Given the description of an element on the screen output the (x, y) to click on. 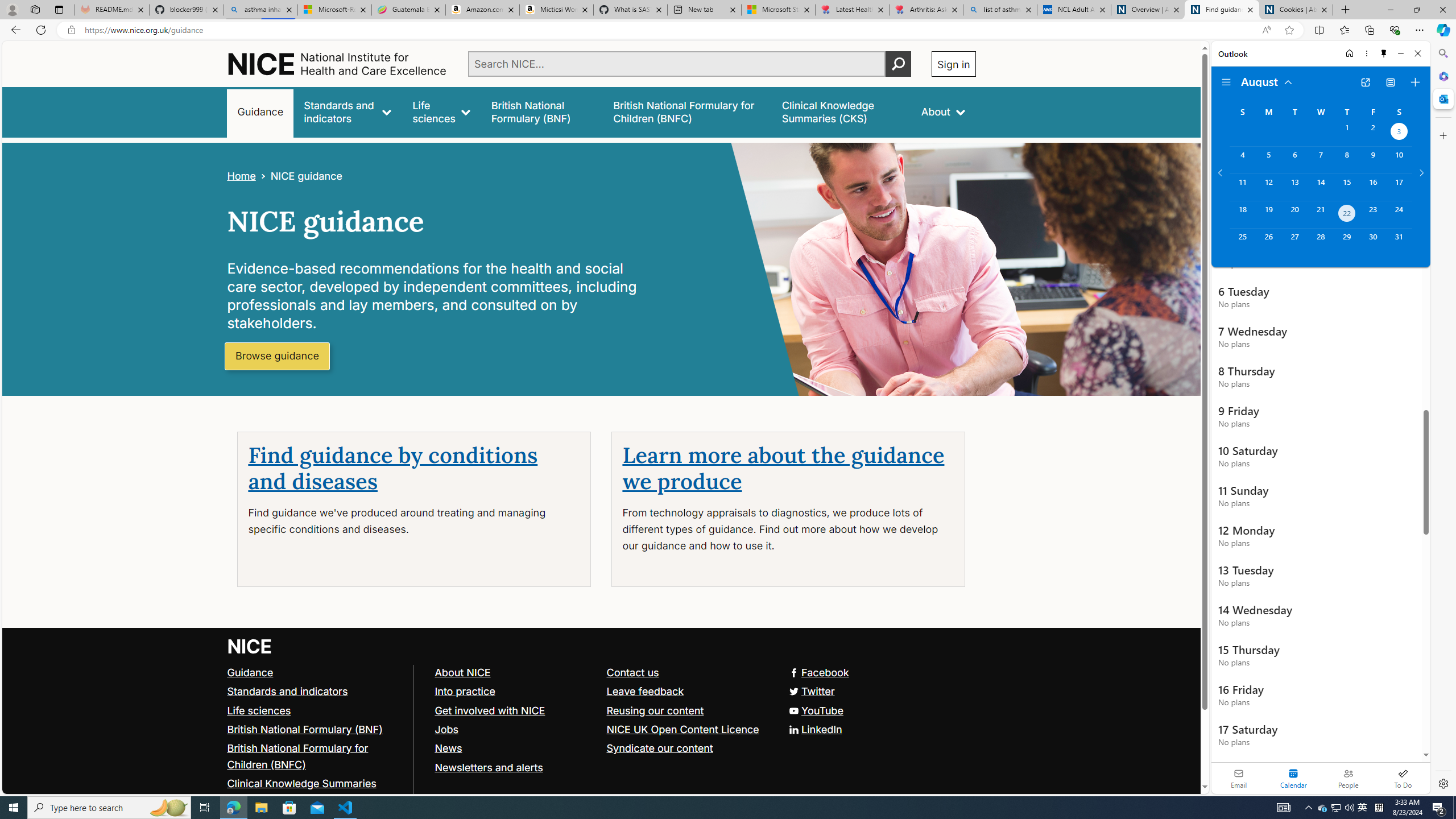
Home (241, 176)
View Switcher. Current view is Agenda view (1390, 82)
More options (1366, 53)
Sunday, August 18, 2024.  (1242, 214)
Wednesday, August 7, 2024.  (1320, 159)
Close Outlook pane (1442, 98)
About (942, 111)
Home (1348, 53)
Friday, August 16, 2024.  (1372, 186)
Personal Profile (12, 9)
New tab (703, 9)
Thursday, August 29, 2024.  (1346, 241)
